Given the description of an element on the screen output the (x, y) to click on. 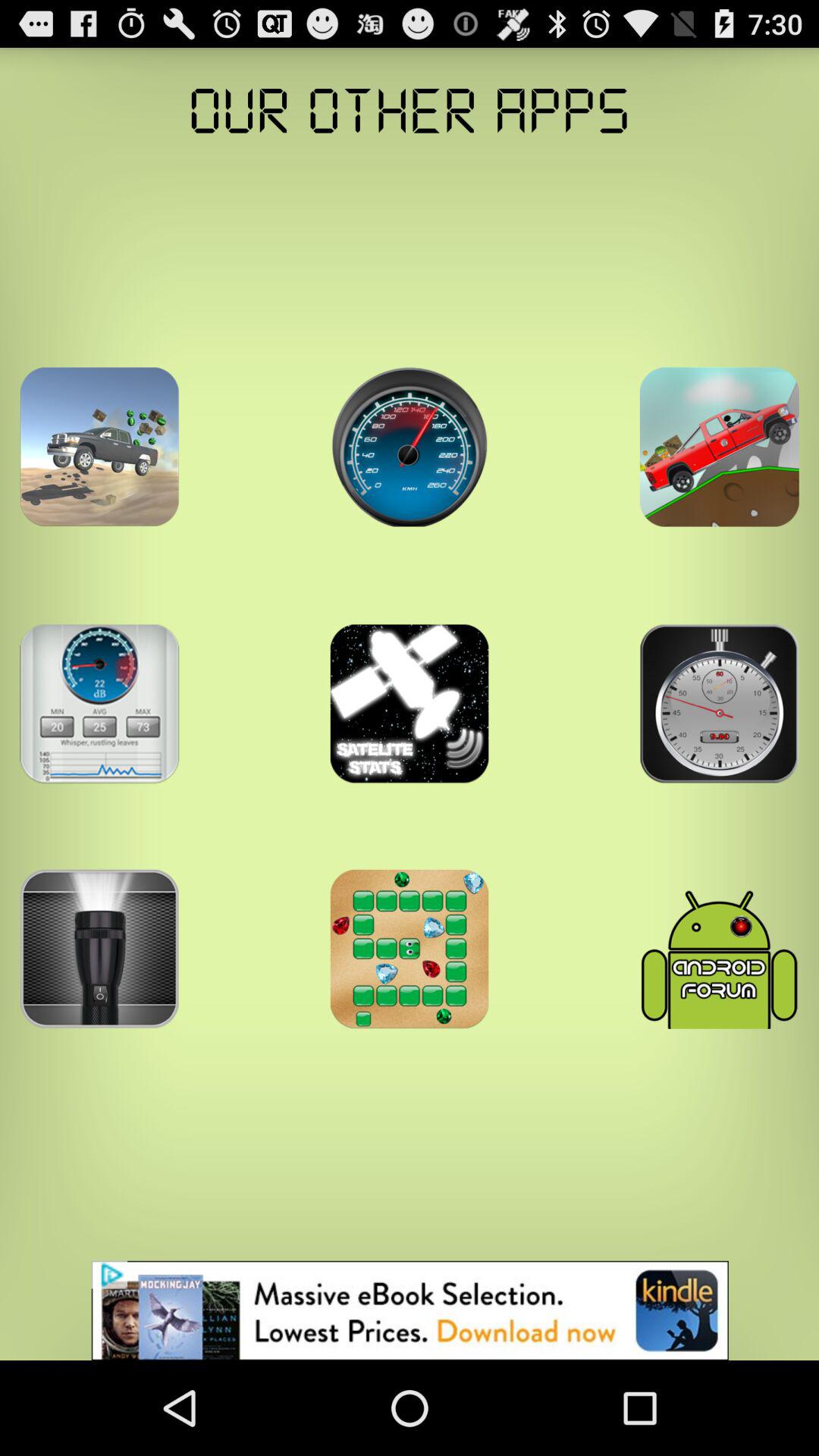
show gps (719, 446)
